Given the description of an element on the screen output the (x, y) to click on. 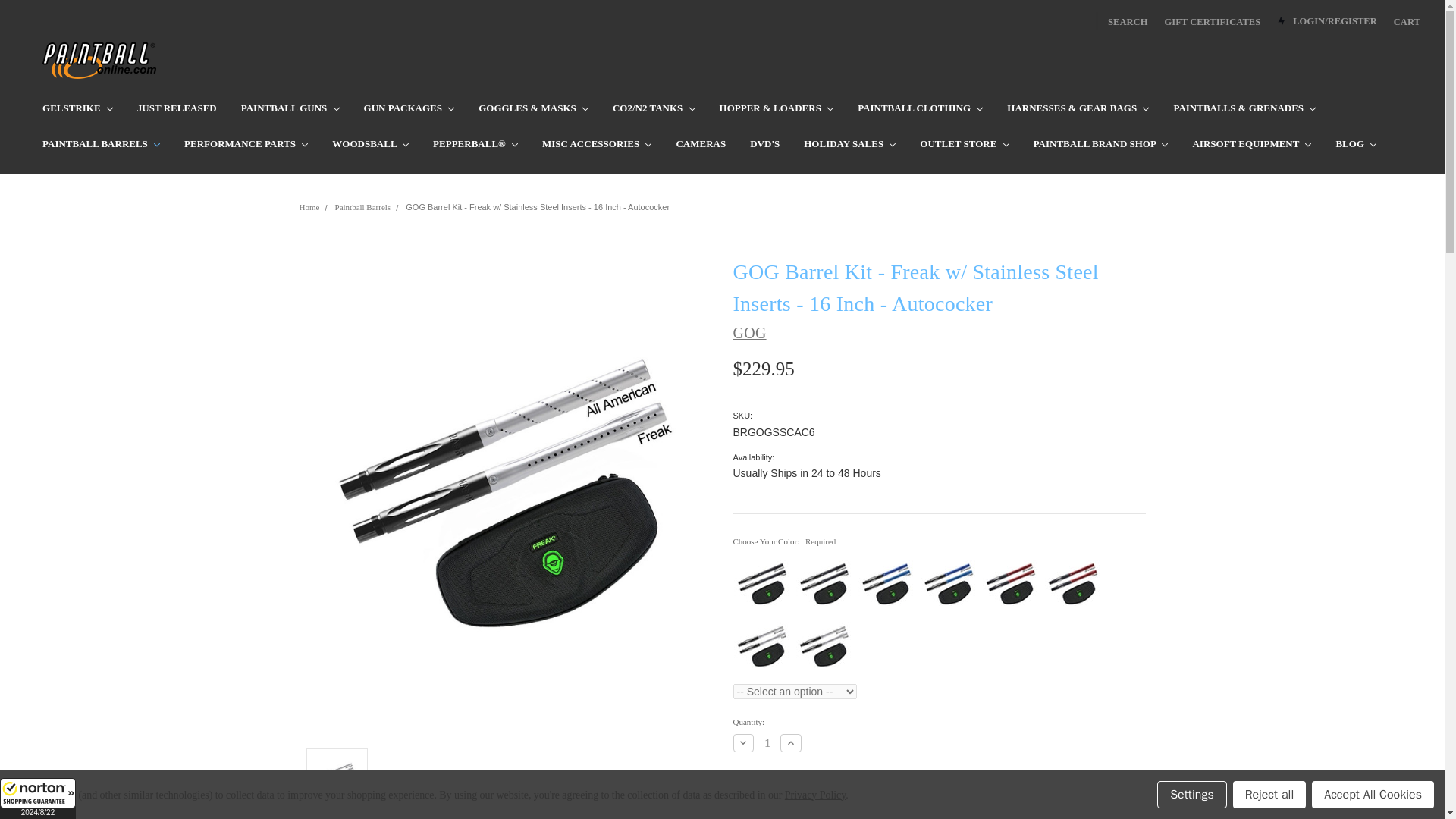
Blue Spiral Port Front (947, 582)
Paintball Online (98, 60)
CART (1407, 19)
Black Spiral Port Front (823, 582)
1 (767, 743)
